Given the description of an element on the screen output the (x, y) to click on. 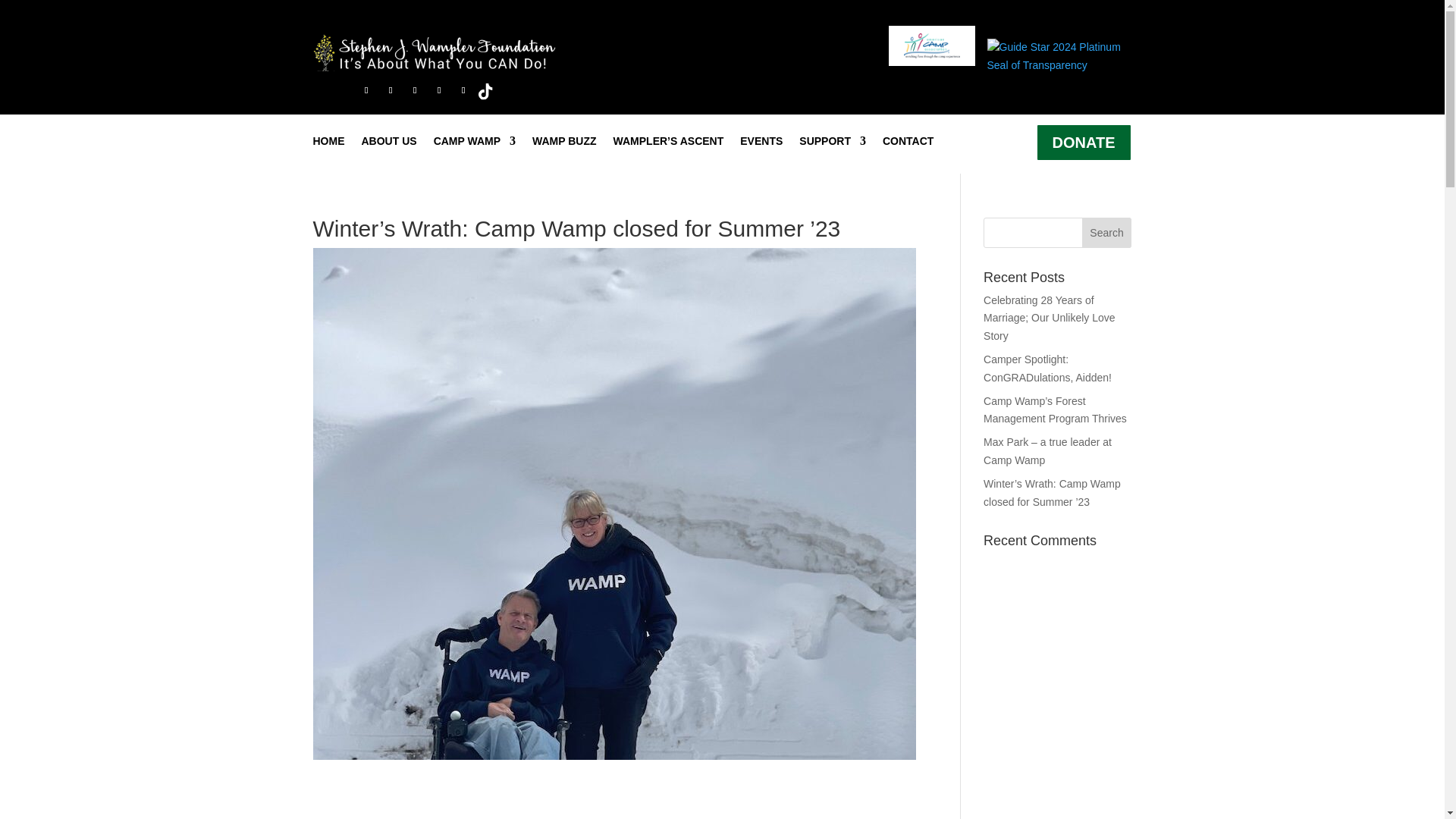
HOME (328, 143)
SUPPORT (832, 143)
CAMP WAMP (474, 143)
Follow on LinkedIn (438, 90)
ABOUT US (388, 143)
CONTACT (907, 143)
Follow on Facebook (365, 90)
ACA logo (931, 45)
WAMP BUZZ (564, 143)
Follow on X (389, 90)
EVENTS (761, 143)
stephen-j-wampler-foundation-logo-white-larger (433, 52)
Follow on Instagram (414, 90)
Search (1106, 232)
Follow on Youtube (462, 90)
